Given the description of an element on the screen output the (x, y) to click on. 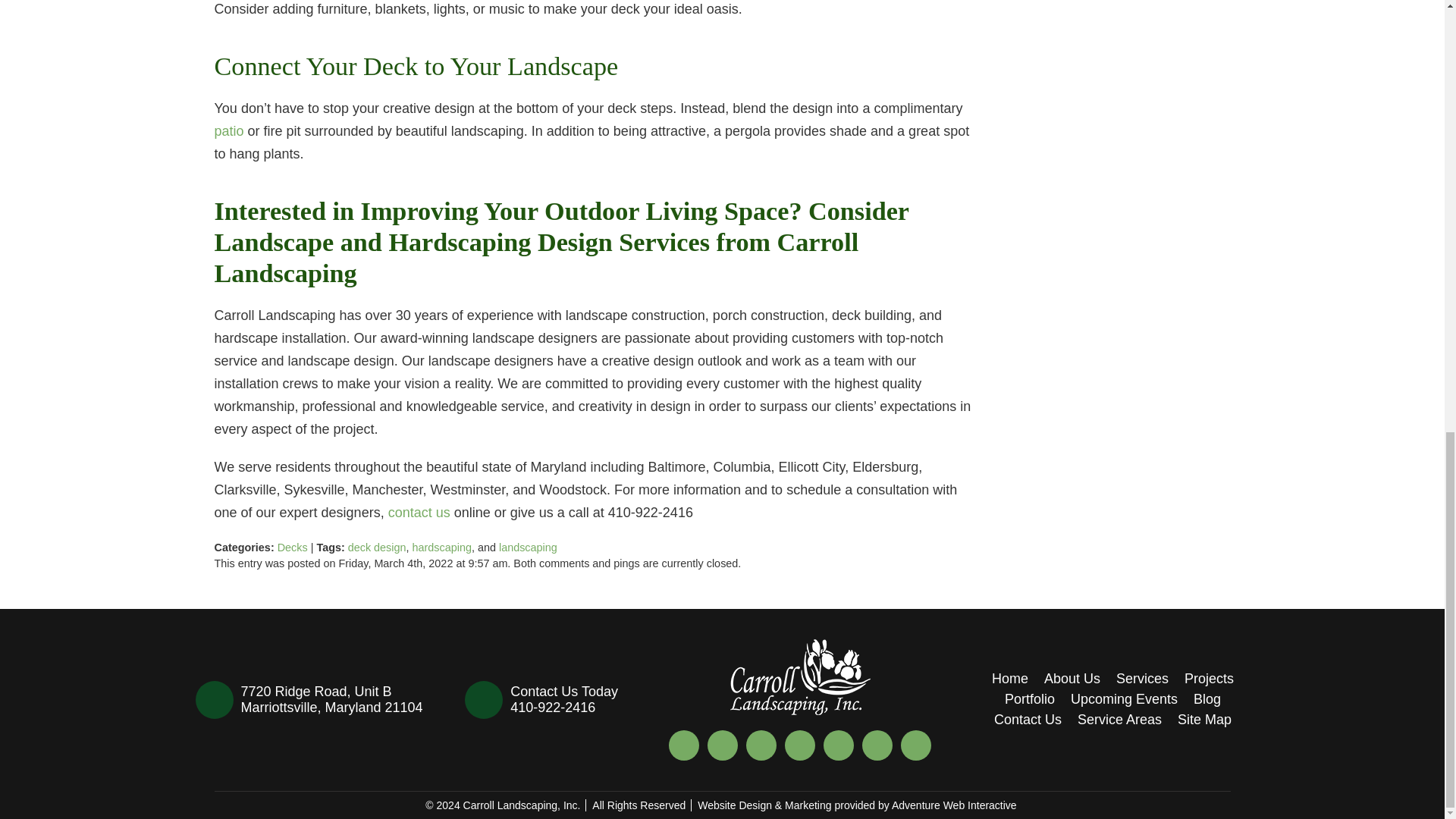
Carroll Landscaping (800, 676)
